Given the description of an element on the screen output the (x, y) to click on. 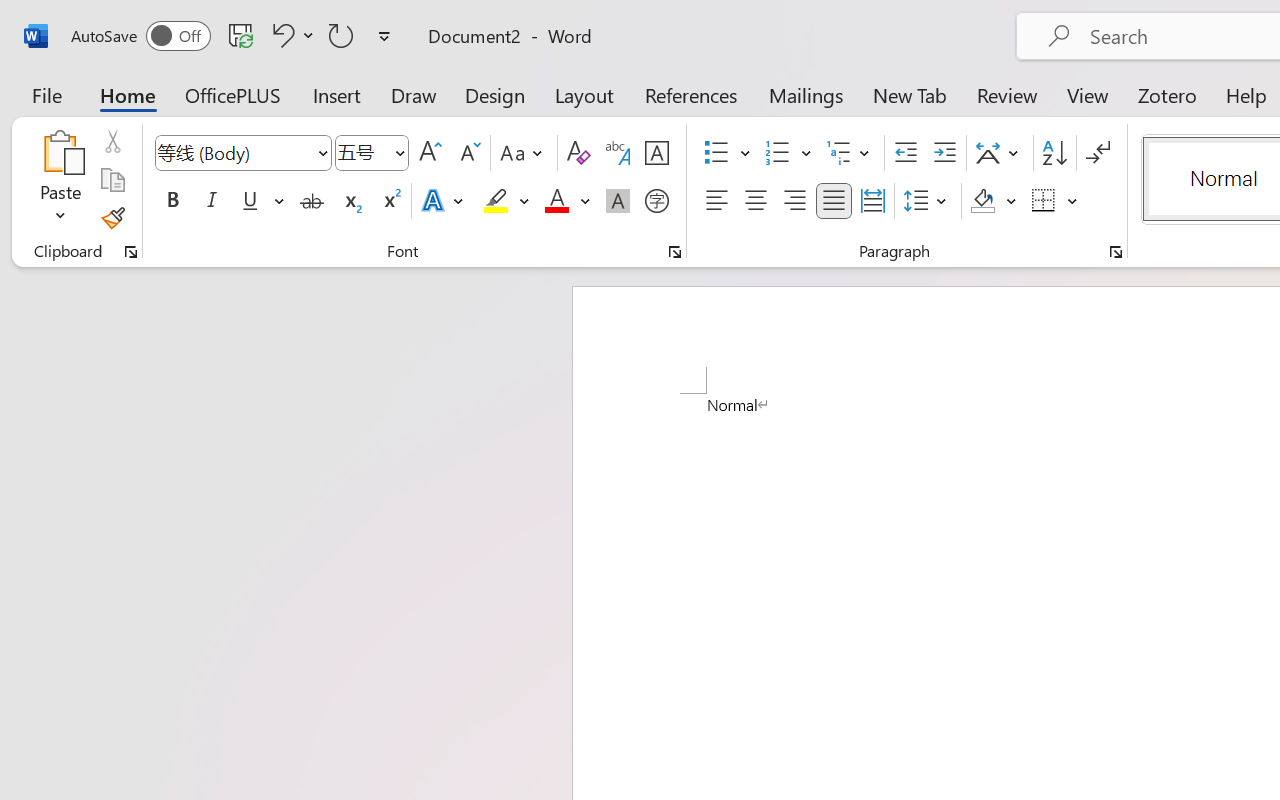
Asian Layout (1000, 153)
Character Border (656, 153)
Cut (112, 141)
Undo Apply Quick Style (290, 35)
Text Highlight Color Yellow (495, 201)
Draw (413, 94)
Underline (250, 201)
References (690, 94)
Font Size (372, 153)
Repeat Style (341, 35)
Decrease Indent (906, 153)
Font (234, 152)
Customize Quick Access Toolbar (384, 35)
Font Size (362, 152)
